Given the description of an element on the screen output the (x, y) to click on. 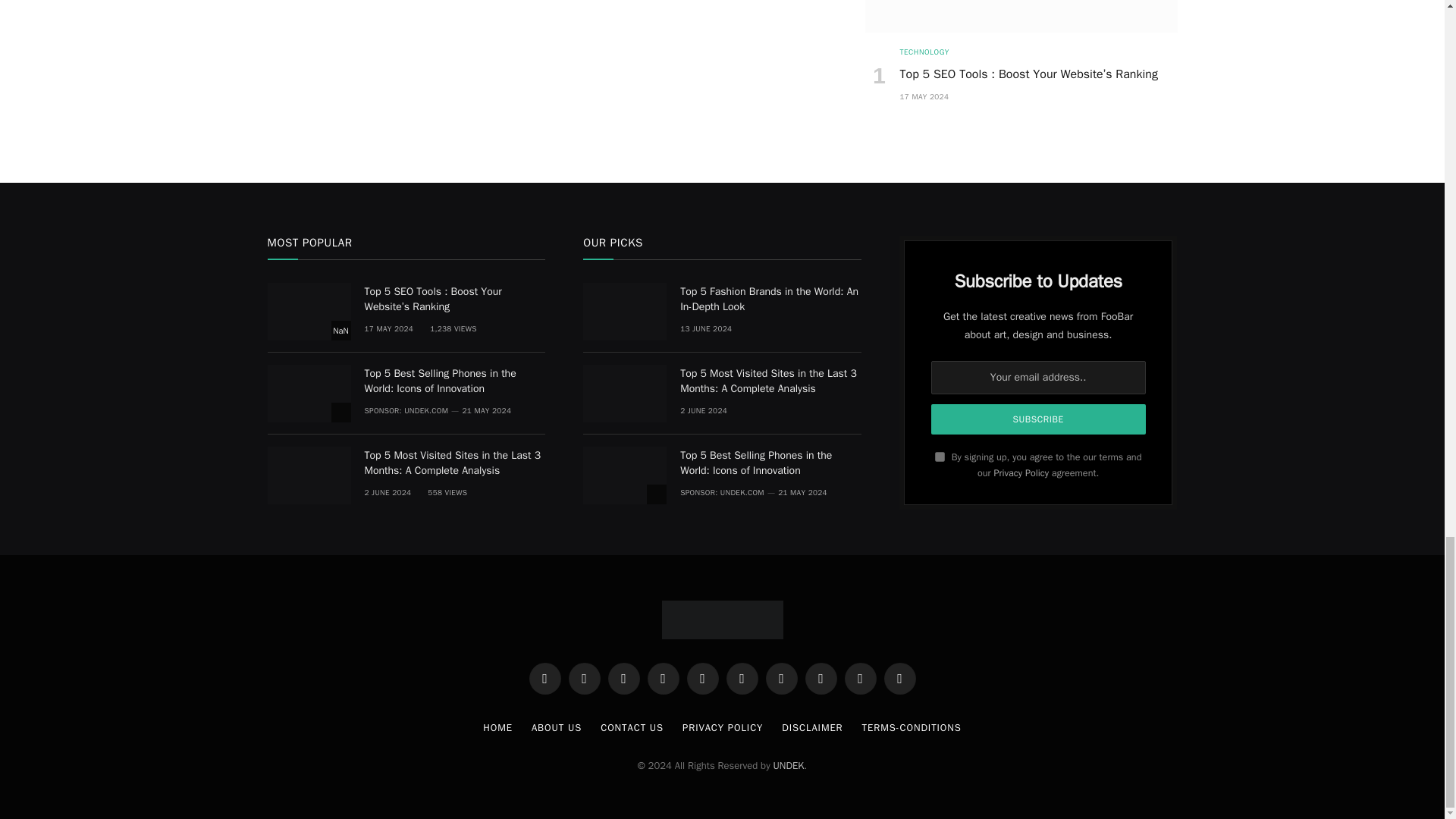
Subscribe (1038, 419)
on (939, 456)
